Given the description of an element on the screen output the (x, y) to click on. 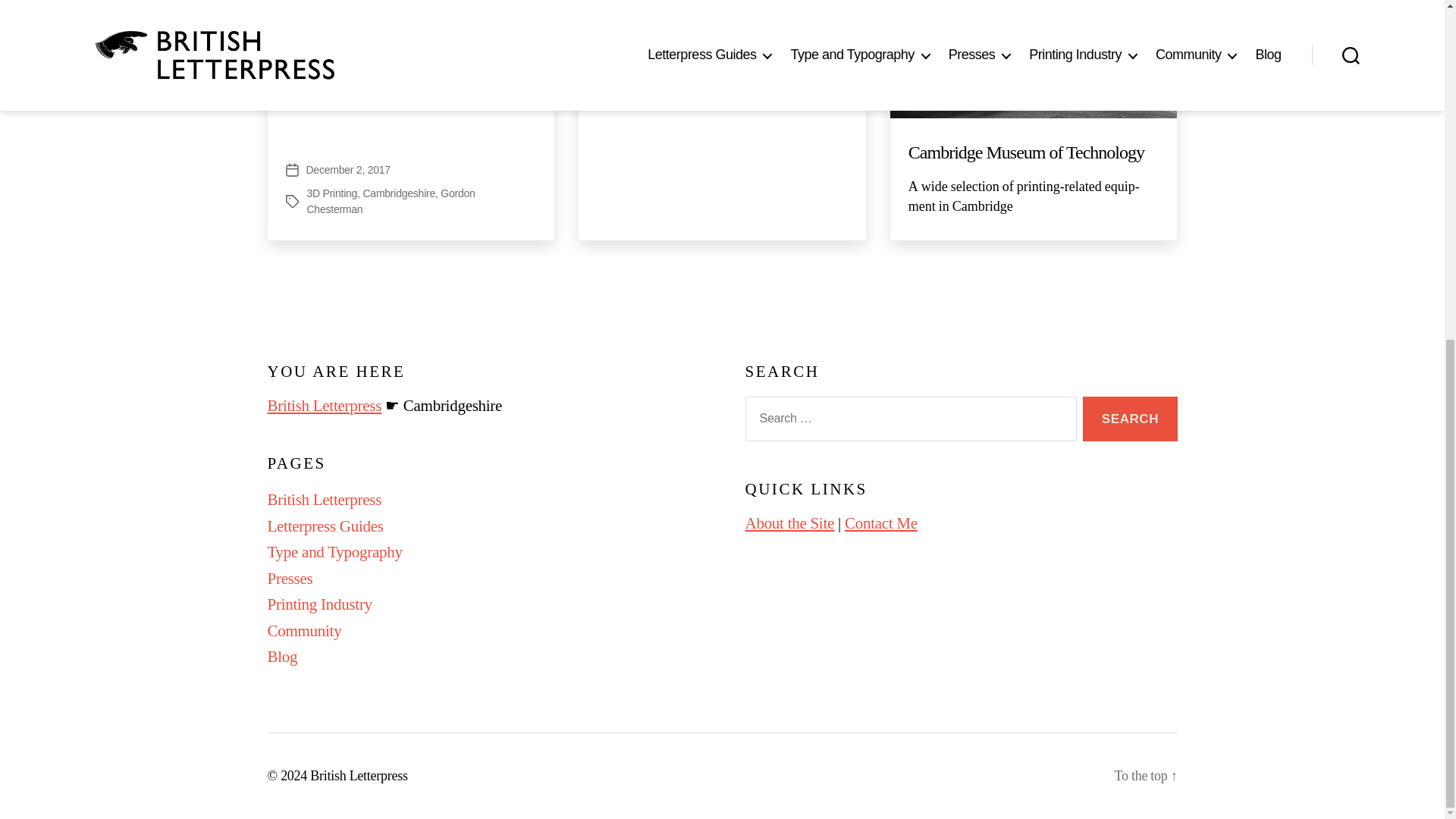
Type and Typography (333, 551)
Letterpress Guides (324, 525)
Go to British Letterpress. (323, 405)
Presses (289, 578)
Printing Industry (318, 604)
Search (1129, 418)
Community (303, 630)
British Letterpress (323, 499)
Blog (281, 656)
Search (1129, 418)
